Given the description of an element on the screen output the (x, y) to click on. 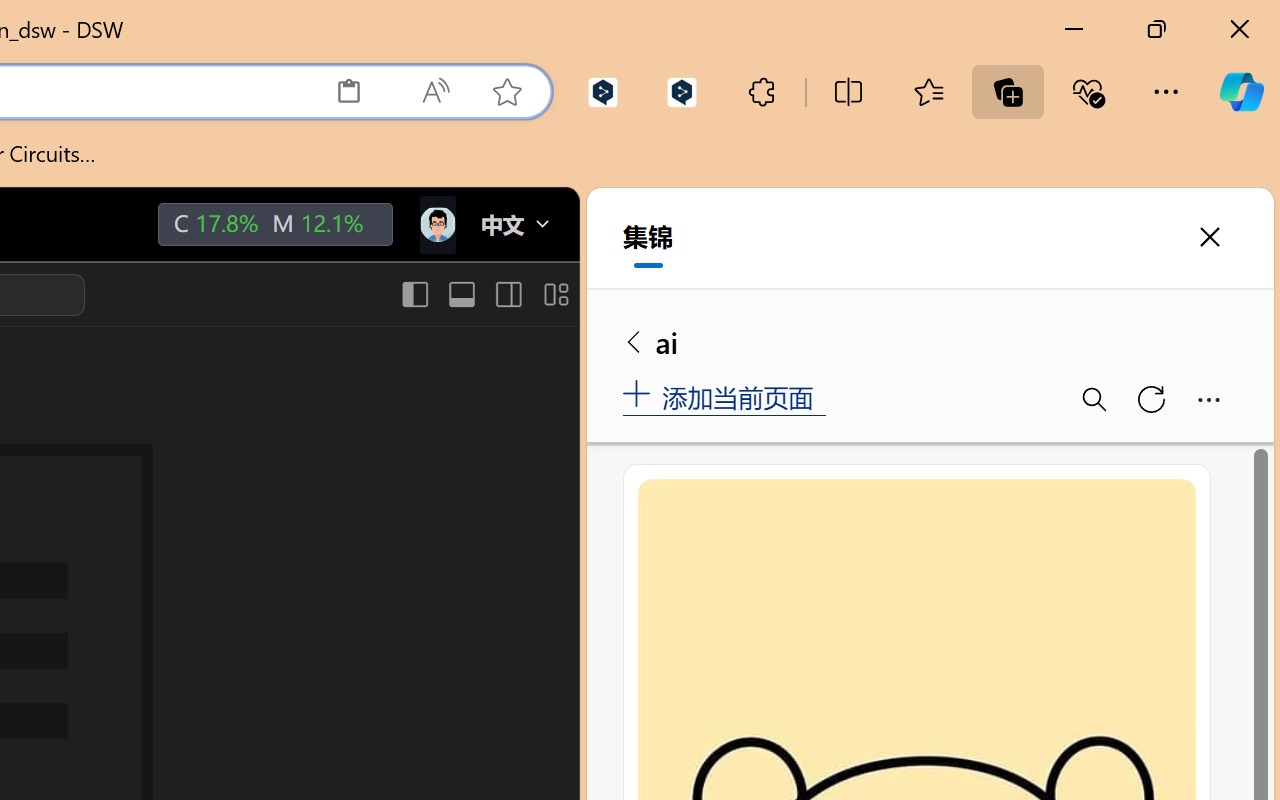
Class: next-menu next-hoz widgets--iconMenu--BFkiHRM (436, 225)
Title actions (484, 294)
Toggle Primary Side Bar (Ctrl+B) (413, 294)
Toggle Secondary Side Bar (Ctrl+Alt+B) (506, 294)
Toggle Panel (Ctrl+J) (461, 294)
Copilot (Ctrl+Shift+.) (1241, 91)
